Given the description of an element on the screen output the (x, y) to click on. 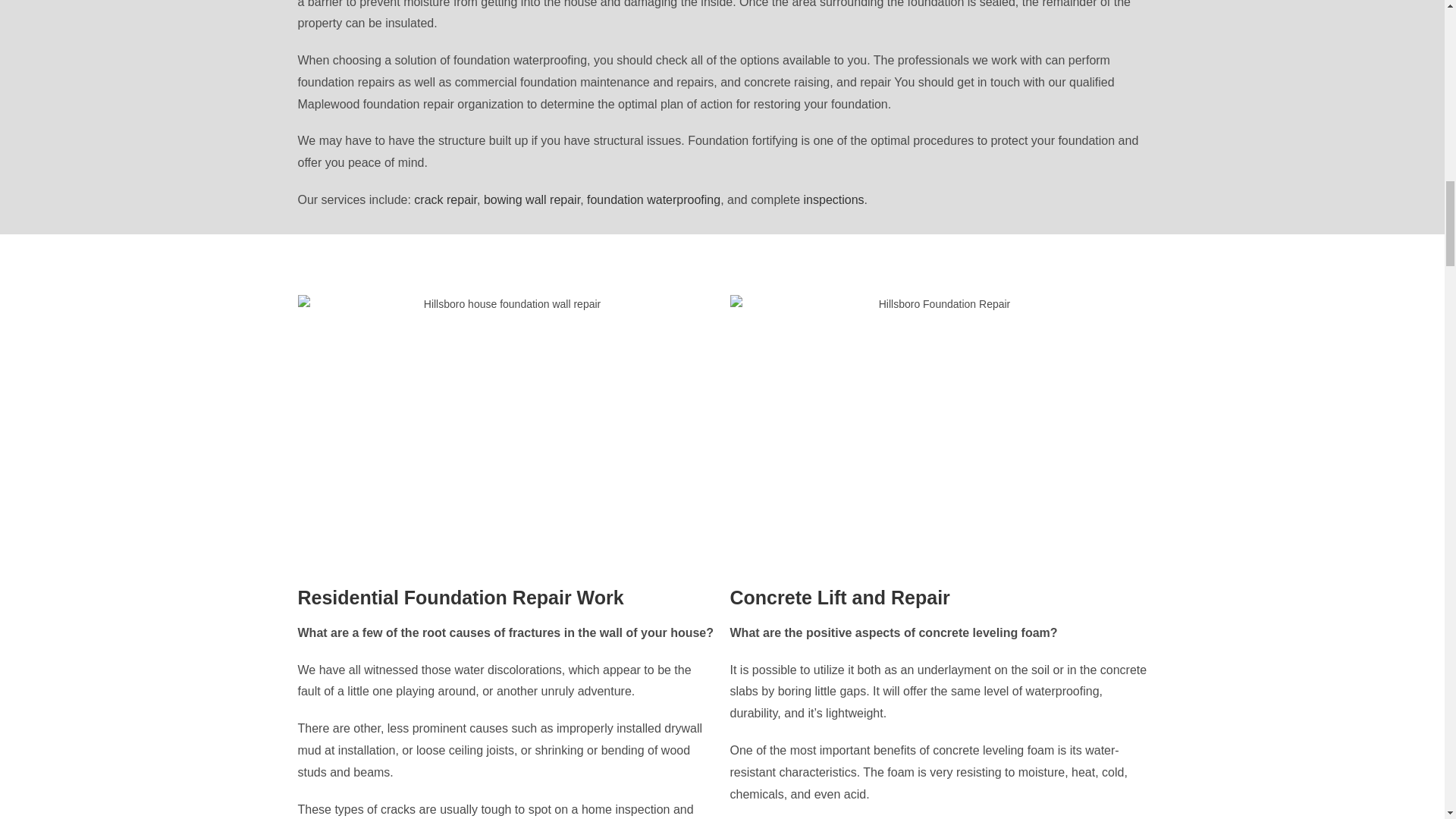
crack repair (445, 199)
bowing wall repair (531, 199)
foundation waterproofing (653, 199)
inspections (833, 199)
